Given the description of an element on the screen output the (x, y) to click on. 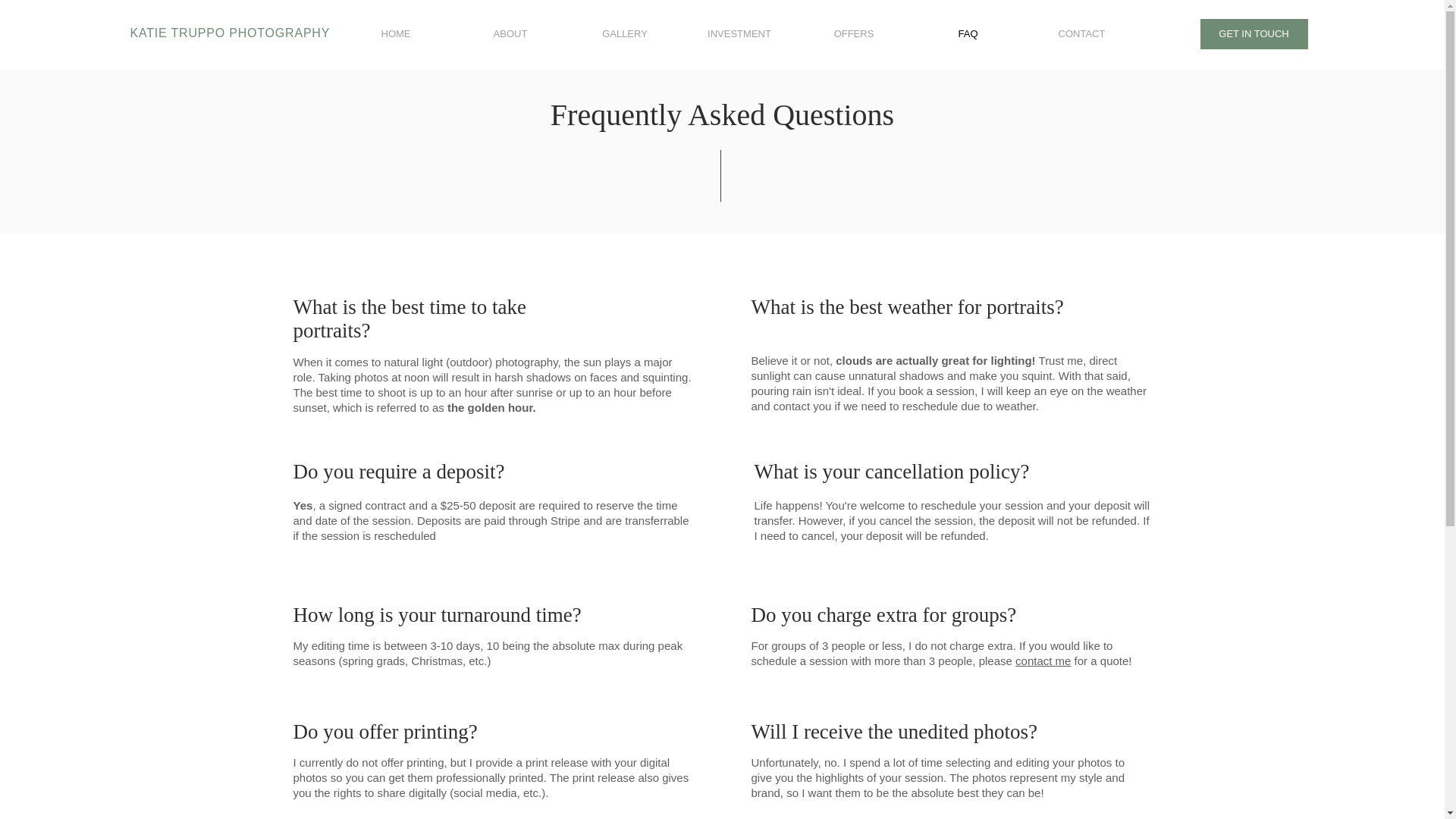
HOME (395, 33)
FAQ (967, 33)
ABOUT (510, 33)
GALLERY (625, 33)
GET IN TOUCH (1253, 33)
contact me (1042, 660)
CONTACT (1080, 33)
INVESTMENT (738, 33)
OFFERS (853, 33)
